Given the description of an element on the screen output the (x, y) to click on. 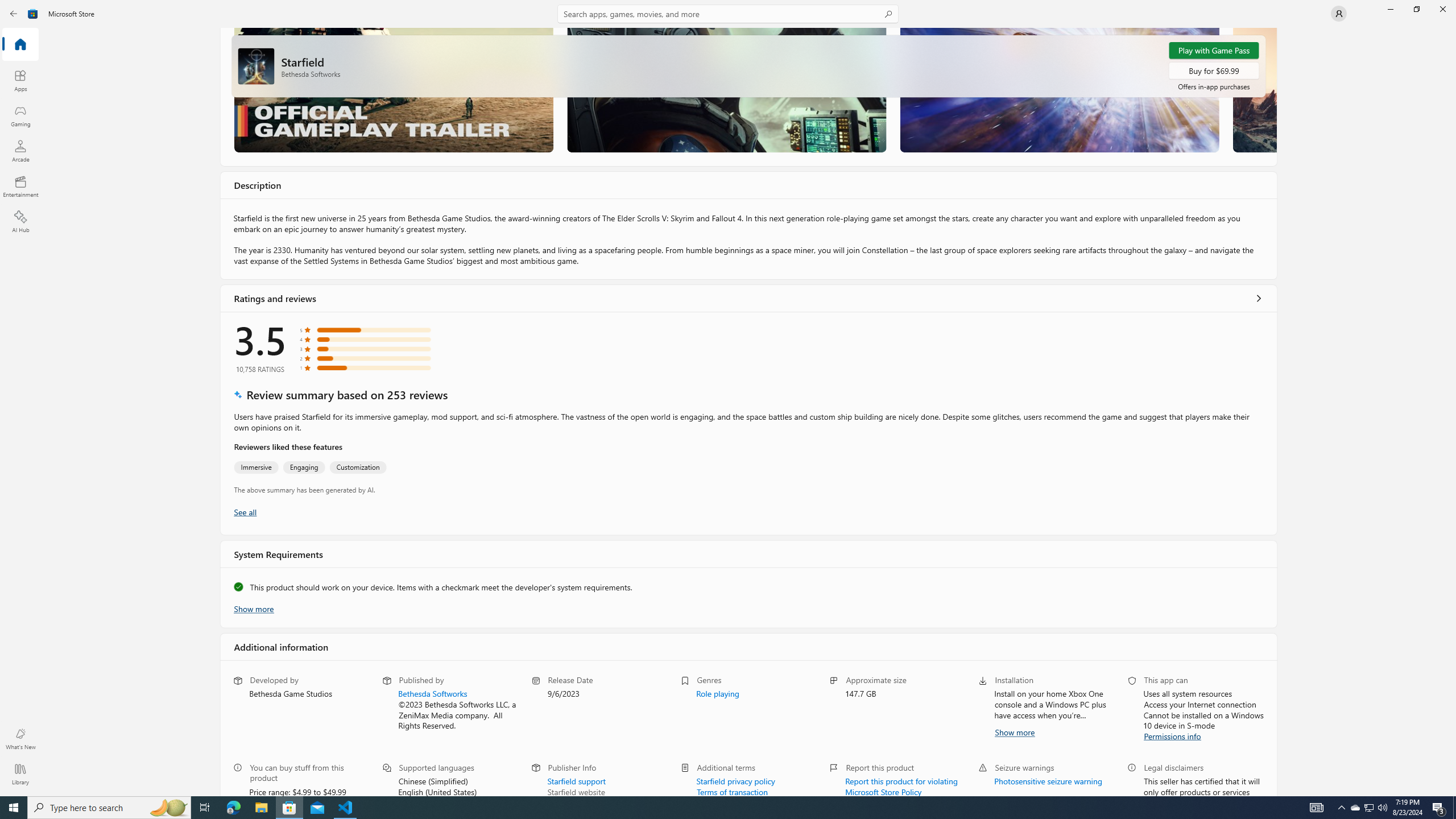
Role playing (716, 692)
Starfield website (575, 791)
Permissions info (1172, 735)
